Given the description of an element on the screen output the (x, y) to click on. 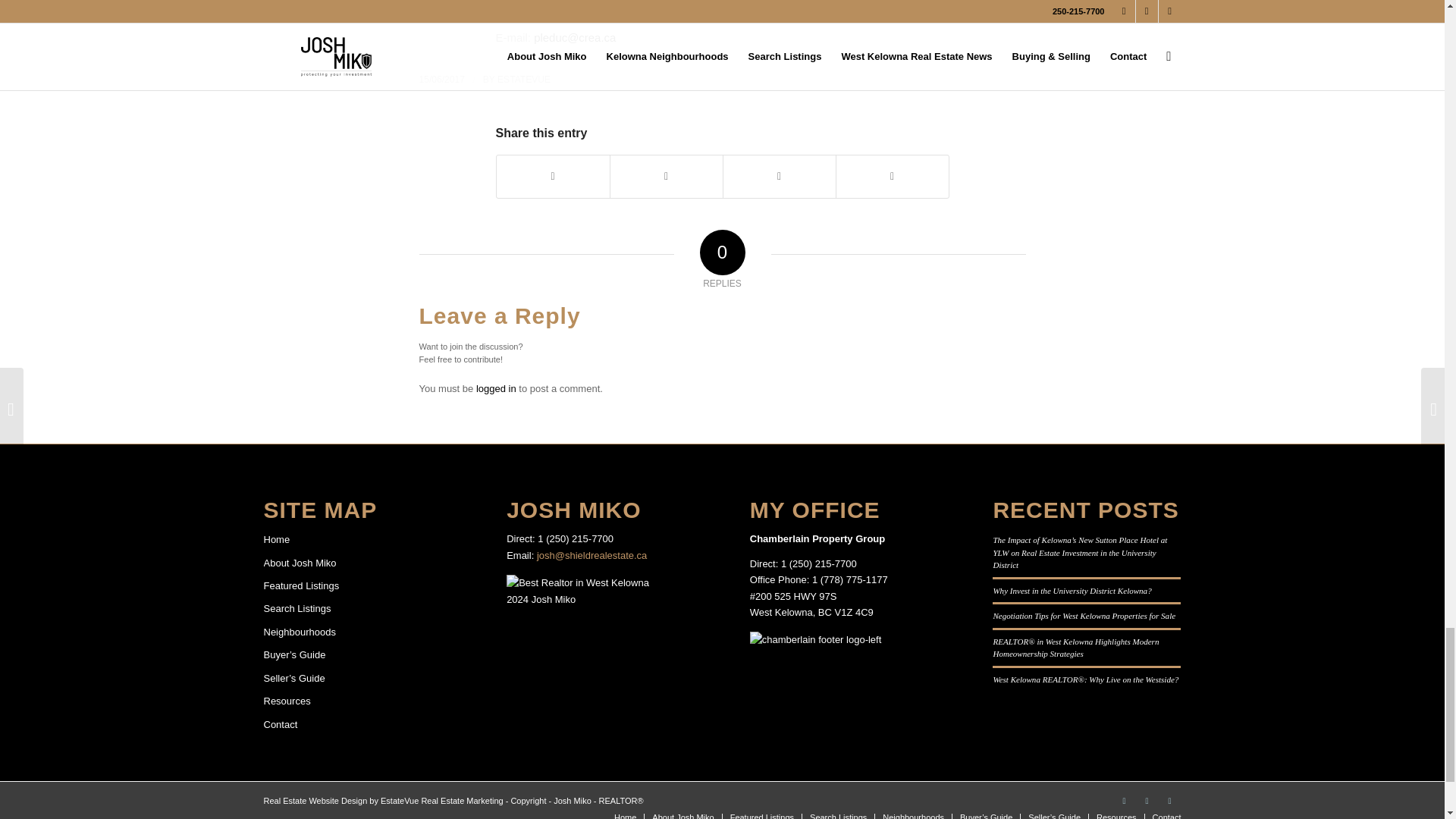
Real Estate Web Design Canada (315, 800)
LinkedIn (1124, 800)
Mail (1169, 800)
Posts by EstateVue (523, 79)
Facebook (1146, 800)
